Given the description of an element on the screen output the (x, y) to click on. 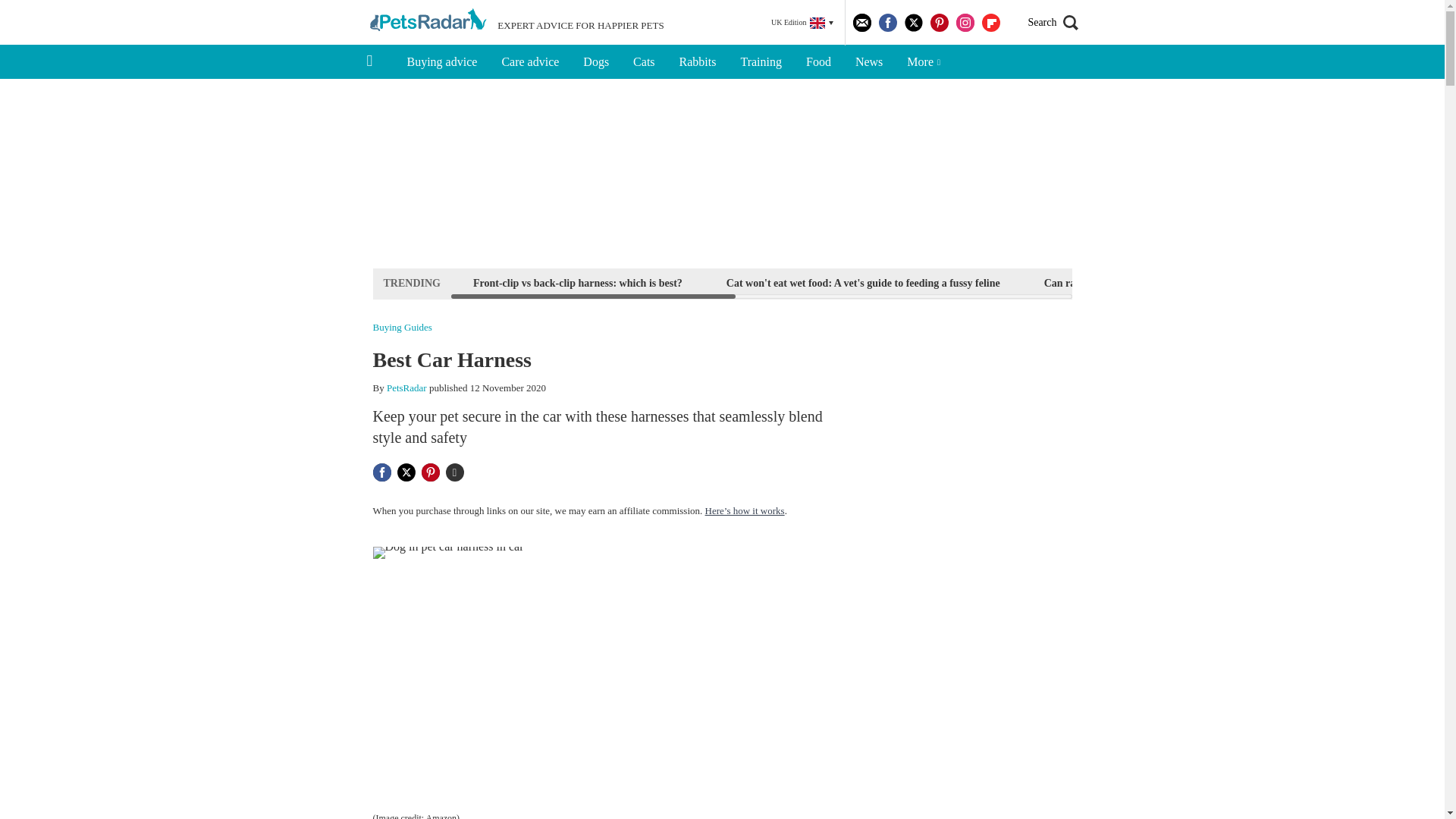
Buying advice (441, 61)
Front-clip vs back-clip harness: which is best? (577, 282)
UK Edition (801, 22)
Can rabbits live alone? (1096, 282)
Care advice (529, 61)
Buying Guides (402, 327)
Rabbits (697, 61)
EXPERT ADVICE FOR HAPPIER PETS (514, 22)
News (869, 61)
